Given the description of an element on the screen output the (x, y) to click on. 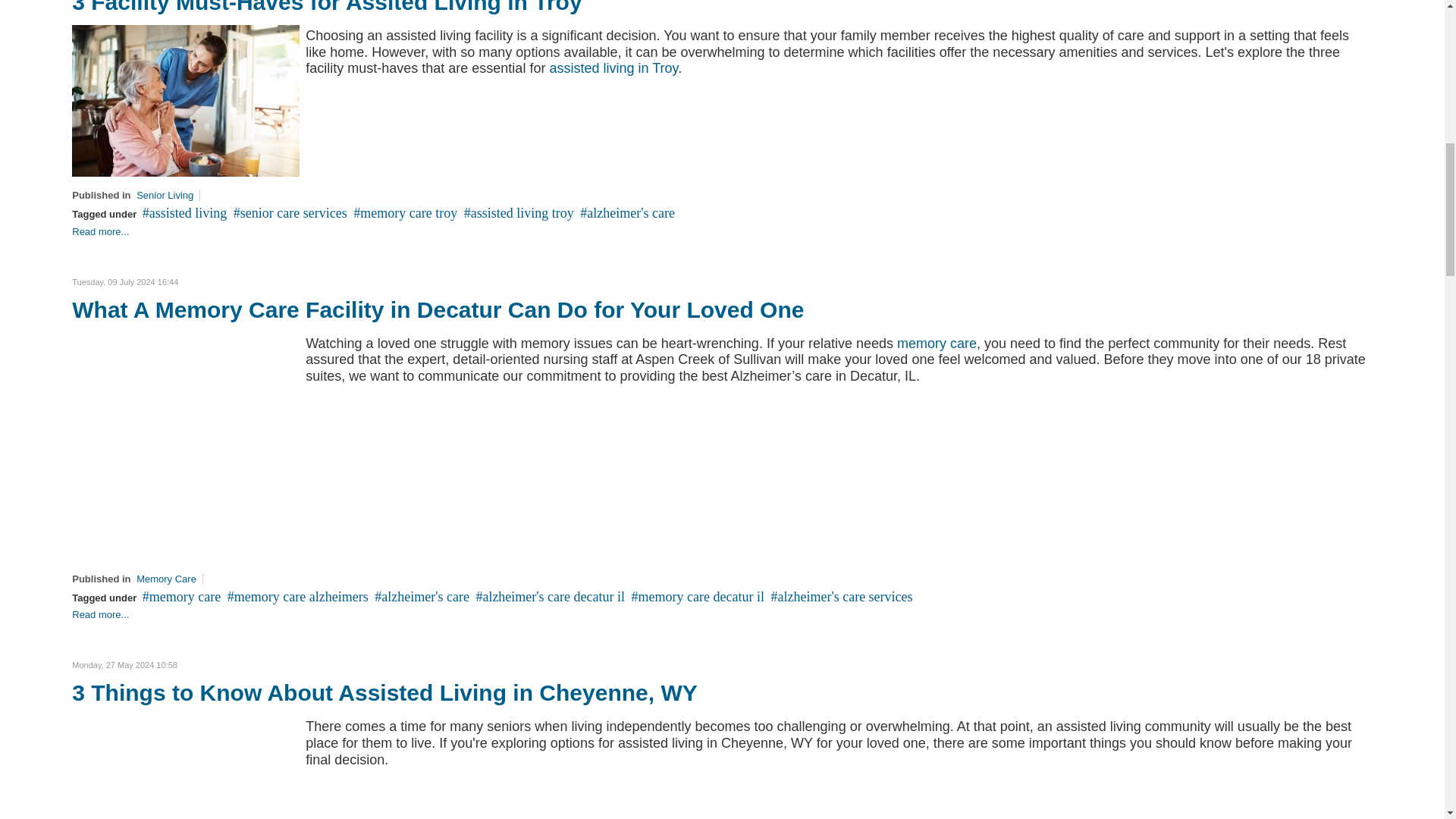
3 Facility Must-Haves for Assited Living in Troy (185, 100)
assisted living (184, 212)
Senior Living (164, 194)
assisted living in Troy (613, 68)
memory care (181, 596)
alzheimer's care (627, 212)
3 Facility Must-Haves for Assited Living in Troy (325, 7)
memory care troy (405, 212)
senior care services (289, 212)
